Given the description of an element on the screen output the (x, y) to click on. 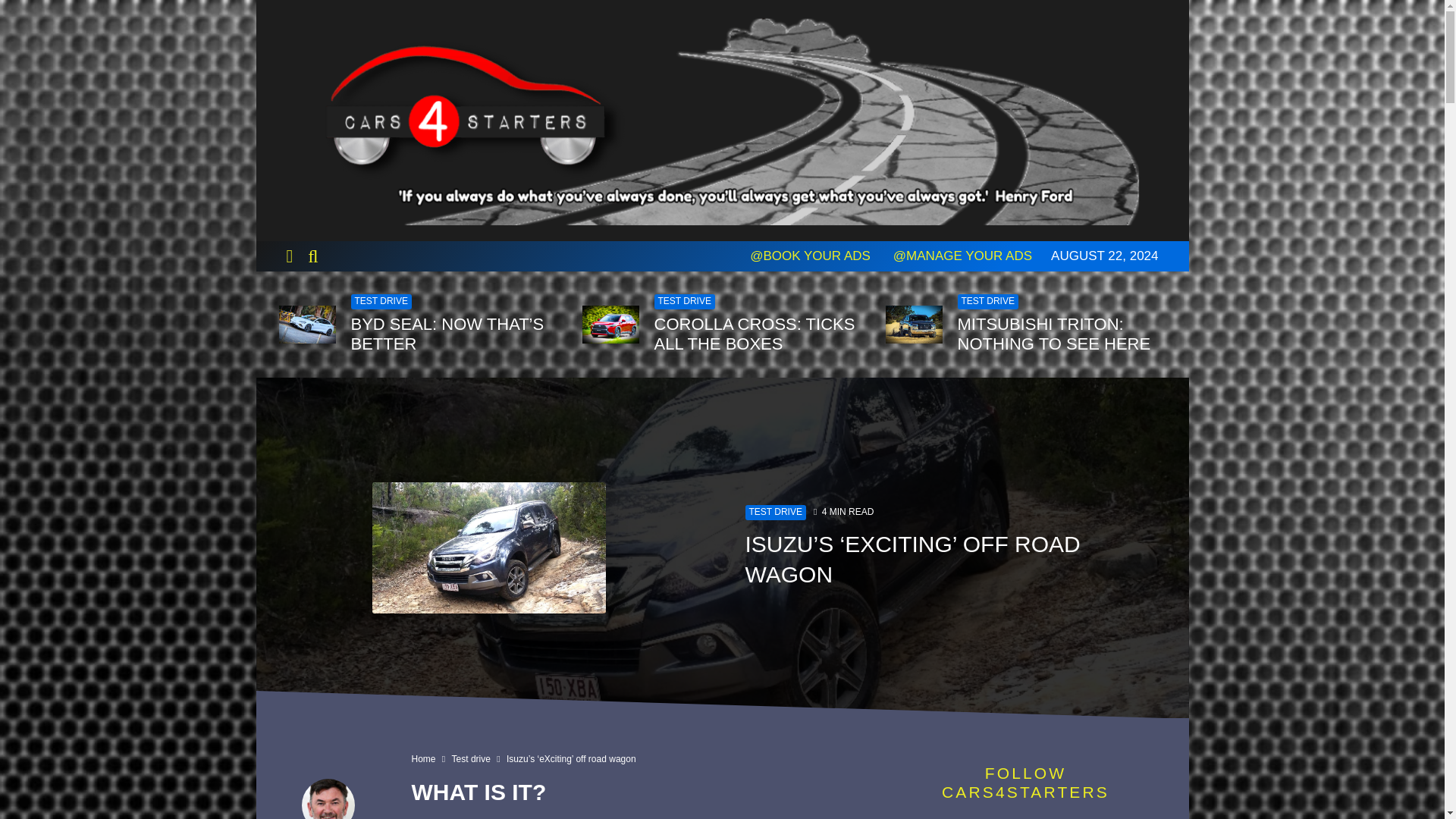
TEST DRIVE (683, 301)
TEST DRIVE (986, 301)
COROLLA CROSS: TICKS ALL THE BOXES (757, 334)
TEST DRIVE (774, 512)
Isuzu's 'eXciting' off road wagon 9 (488, 547)
Home (422, 758)
Test drive (470, 758)
TEST DRIVE (380, 301)
MITSUBISHI TRITON: NOTHING TO SEE HERE (1061, 334)
